Given the description of an element on the screen output the (x, y) to click on. 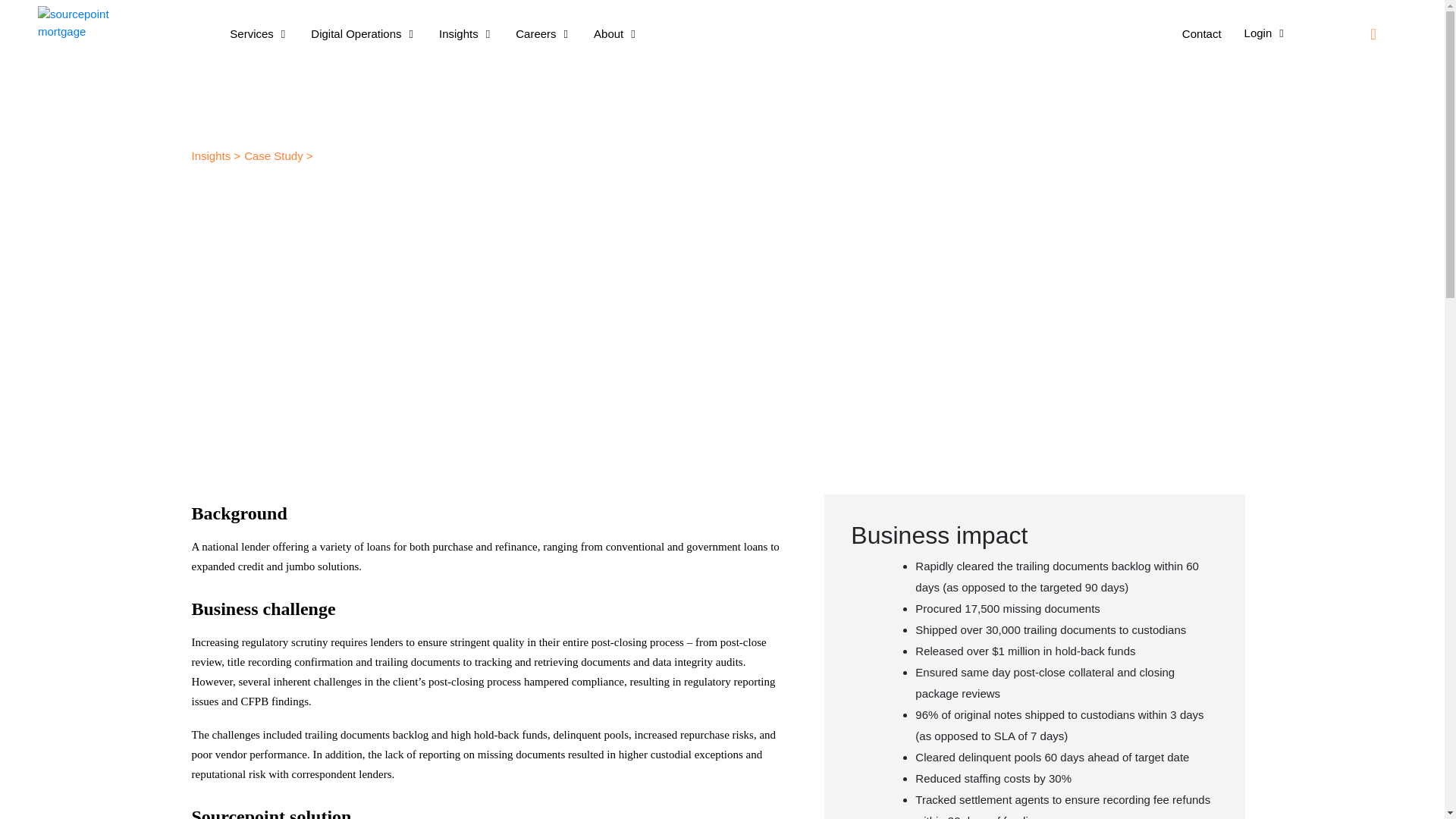
Services (257, 34)
